Given the description of an element on the screen output the (x, y) to click on. 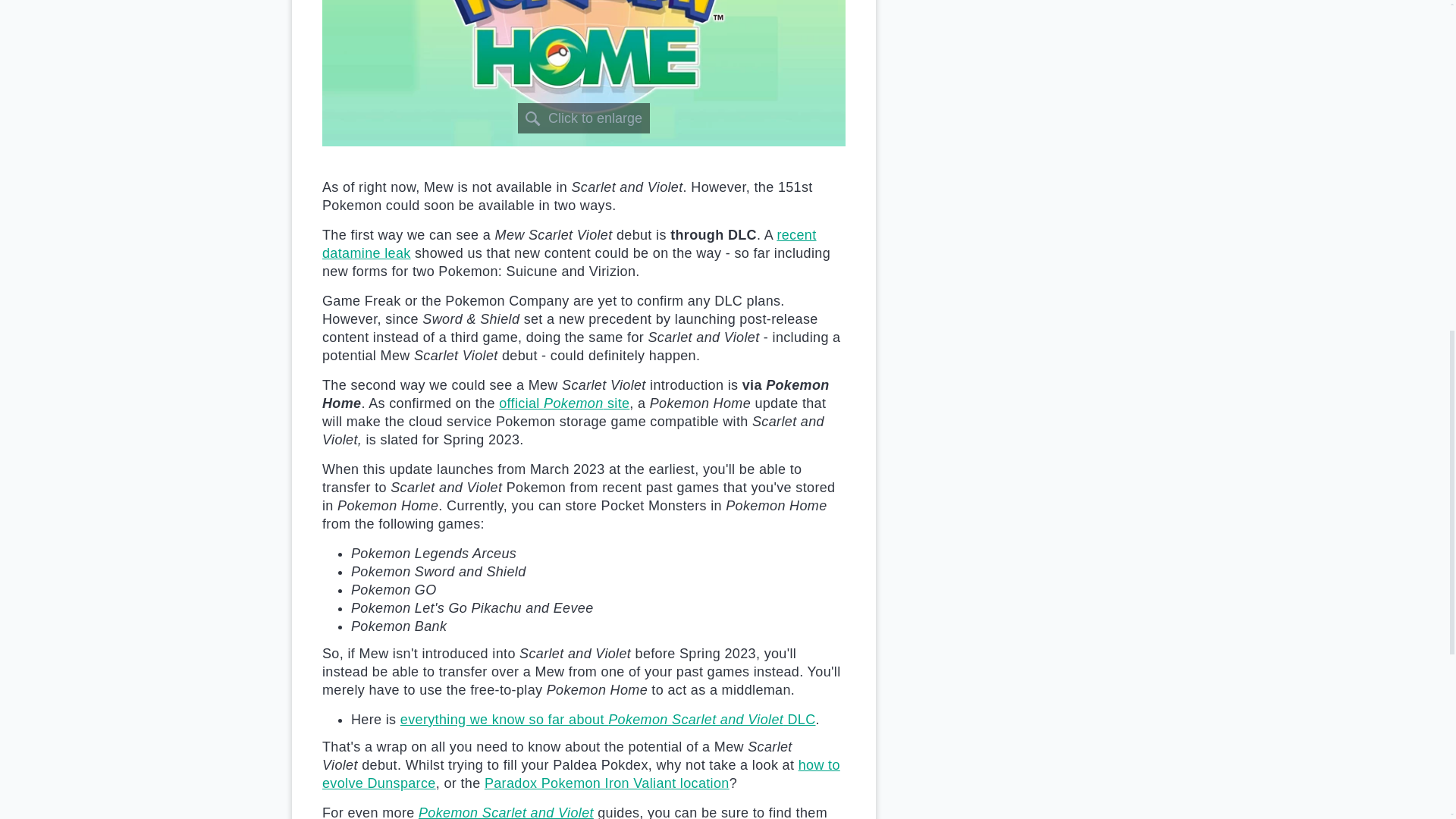
Iron Valiant Location In Pokemon Scarlet And Violet (606, 783)
How To Evolve Dunsparce In Pokemon Scarlet And Violet (580, 774)
